Given the description of an element on the screen output the (x, y) to click on. 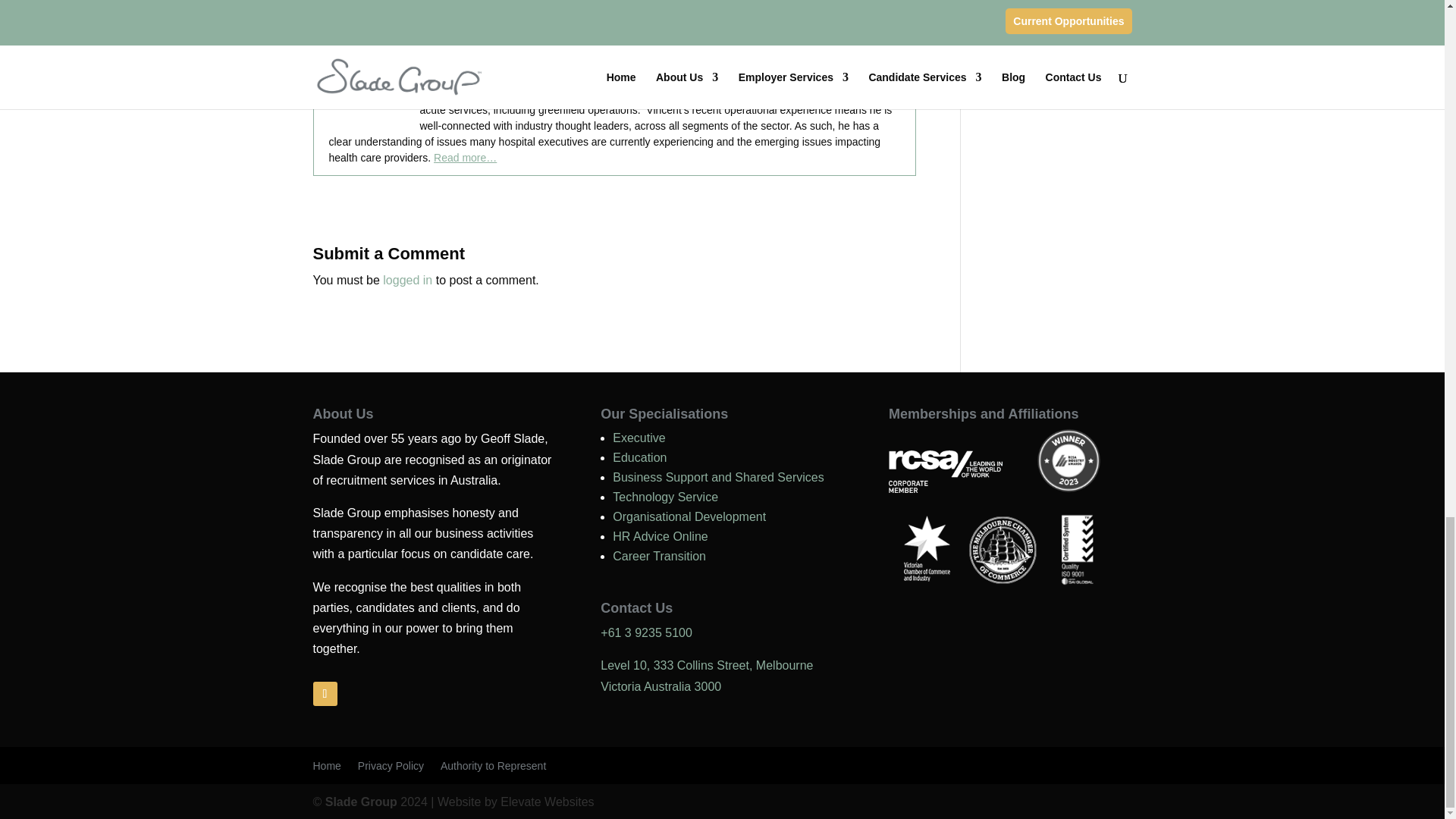
Follow on LinkedIn (324, 693)
